Given the description of an element on the screen output the (x, y) to click on. 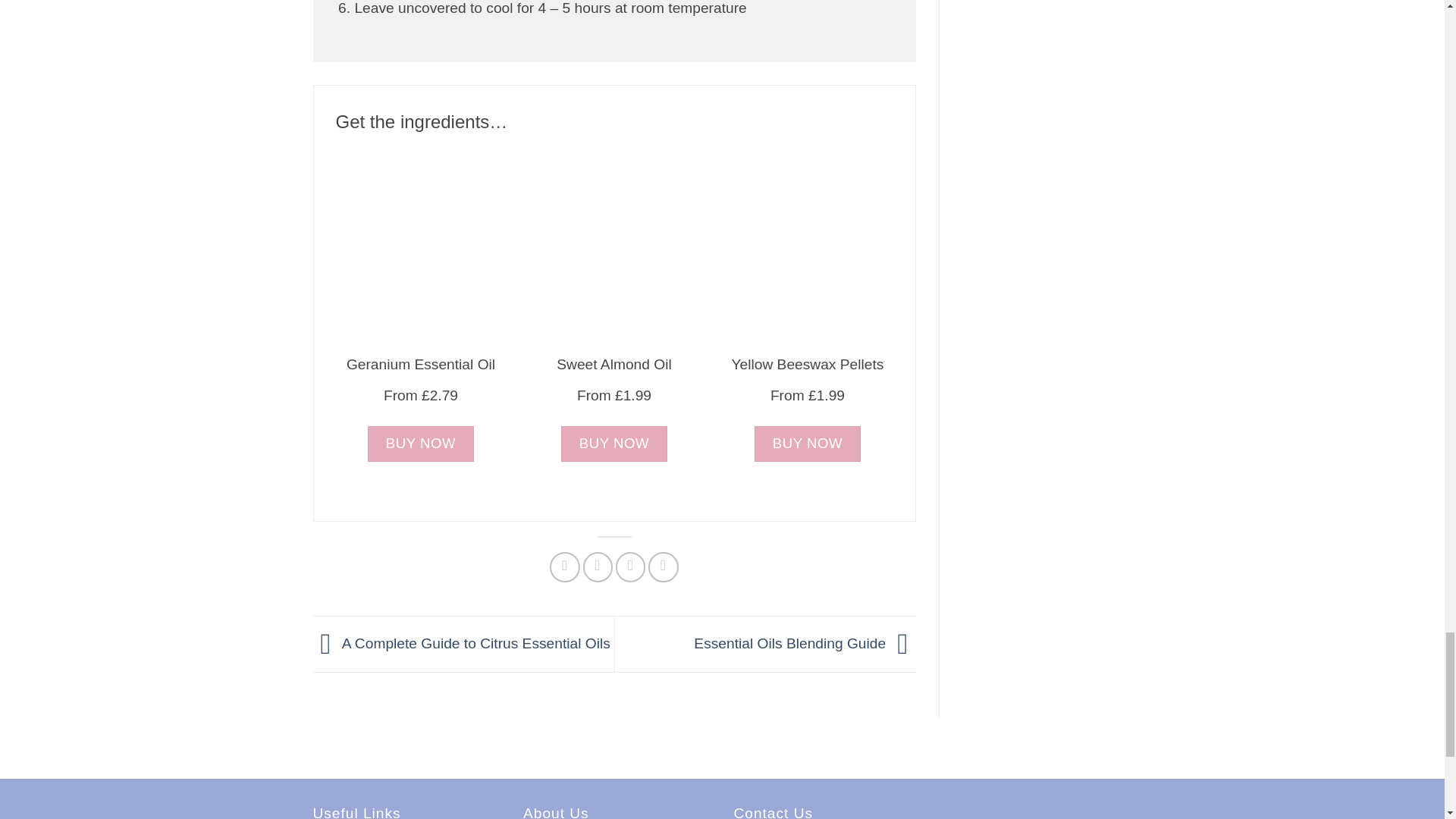
Pin on Pinterest (662, 567)
Share on Twitter (597, 567)
Share on Facebook (564, 567)
Email to a Friend (630, 567)
